Given the description of an element on the screen output the (x, y) to click on. 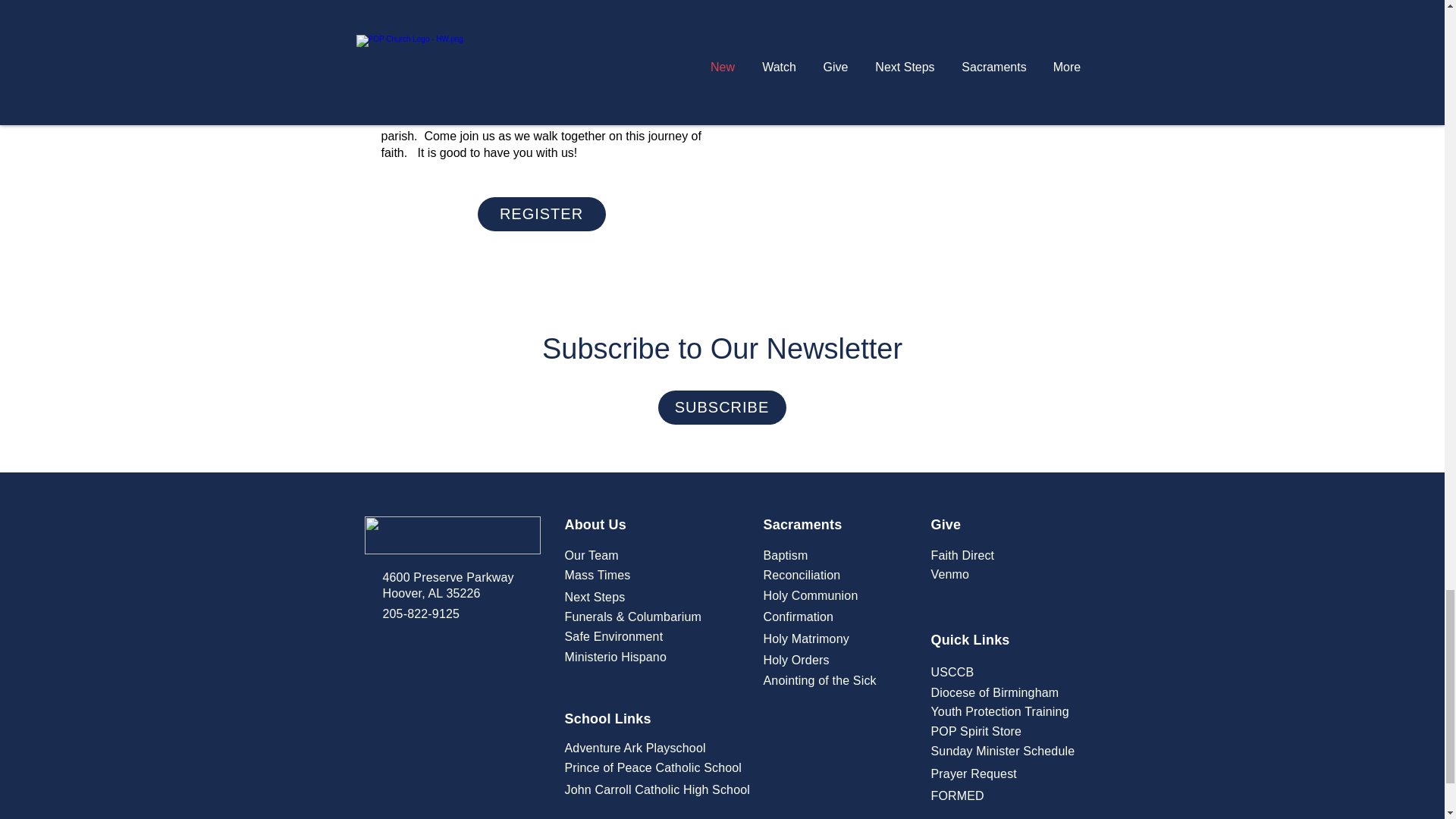
SUBSCRIBE (722, 407)
Next Steps (594, 596)
Ministerio Hispano (615, 656)
Anointing of the Sick (819, 680)
John Carroll Catholic High School (656, 789)
Holy Orders (795, 659)
Holy Communion (809, 594)
Our Team (590, 554)
Mass Times (597, 574)
REGISTER (541, 213)
